Given the description of an element on the screen output the (x, y) to click on. 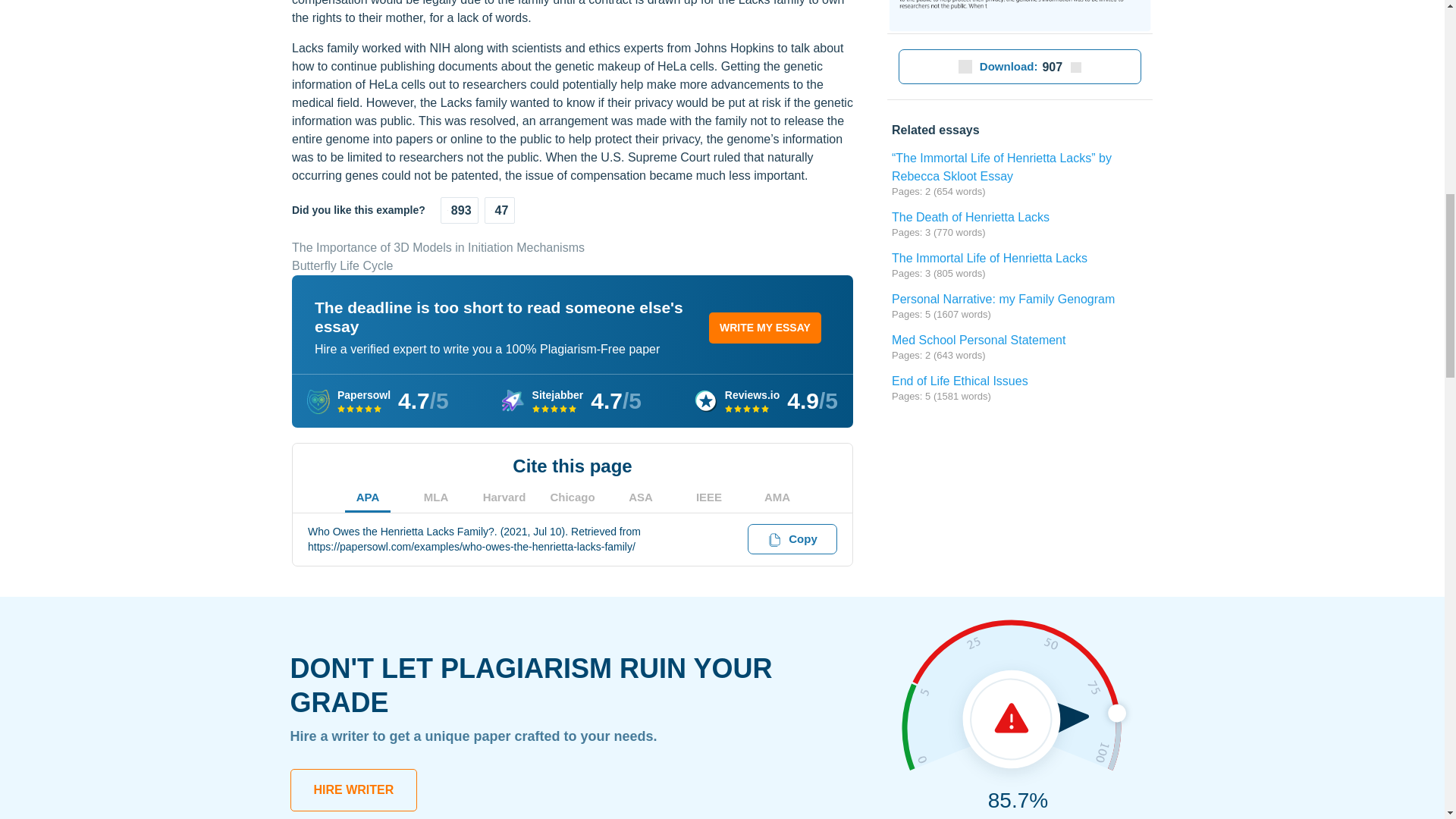
Who Owes the Henrietta Lacks Family? (1019, 16)
